Given the description of an element on the screen output the (x, y) to click on. 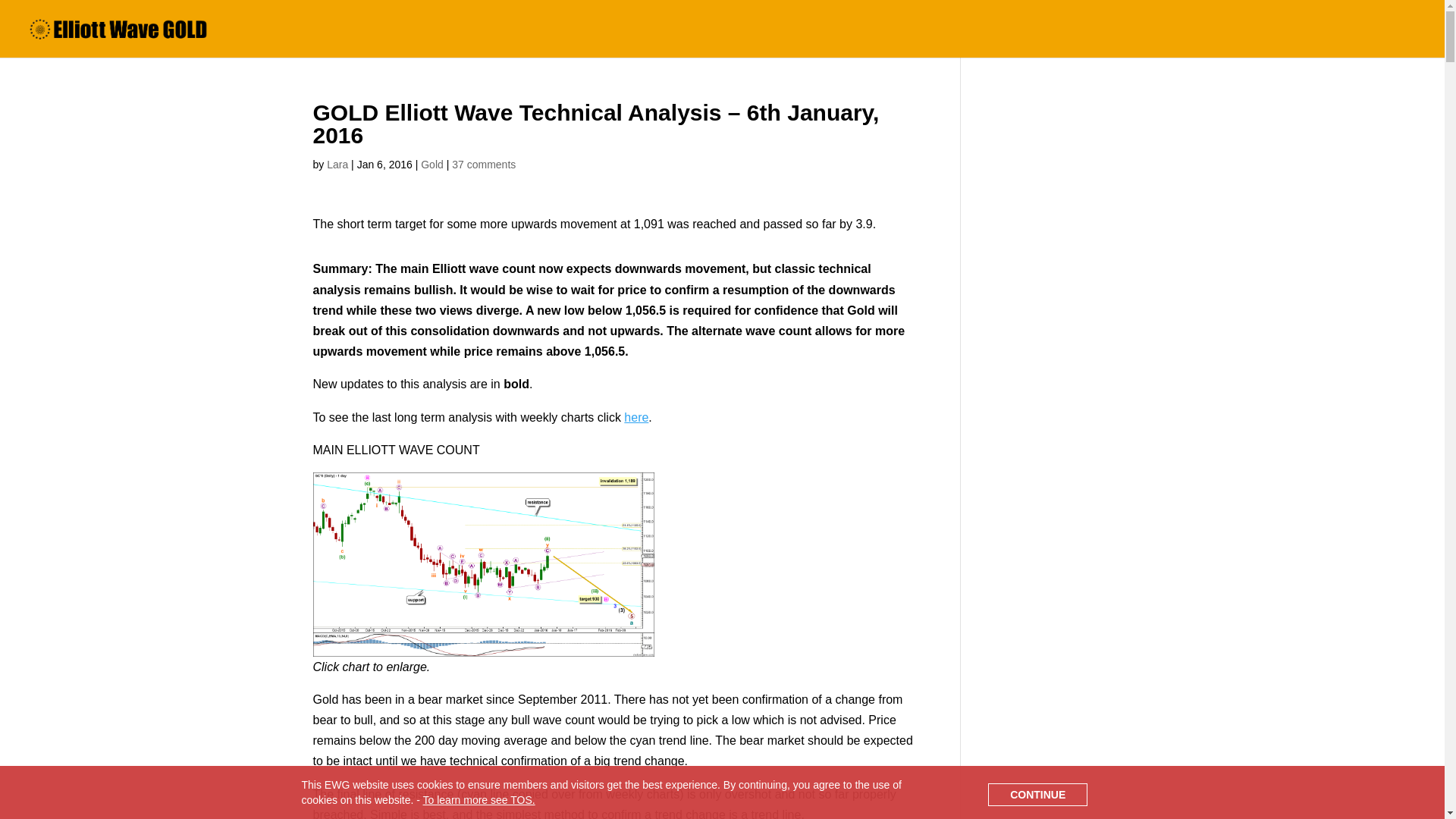
Posts by Lara (336, 164)
To learn more see TOS. (479, 799)
here (635, 417)
Lara (336, 164)
Gold (432, 164)
CONTINUE (1037, 793)
37 comments (483, 164)
